Given the description of an element on the screen output the (x, y) to click on. 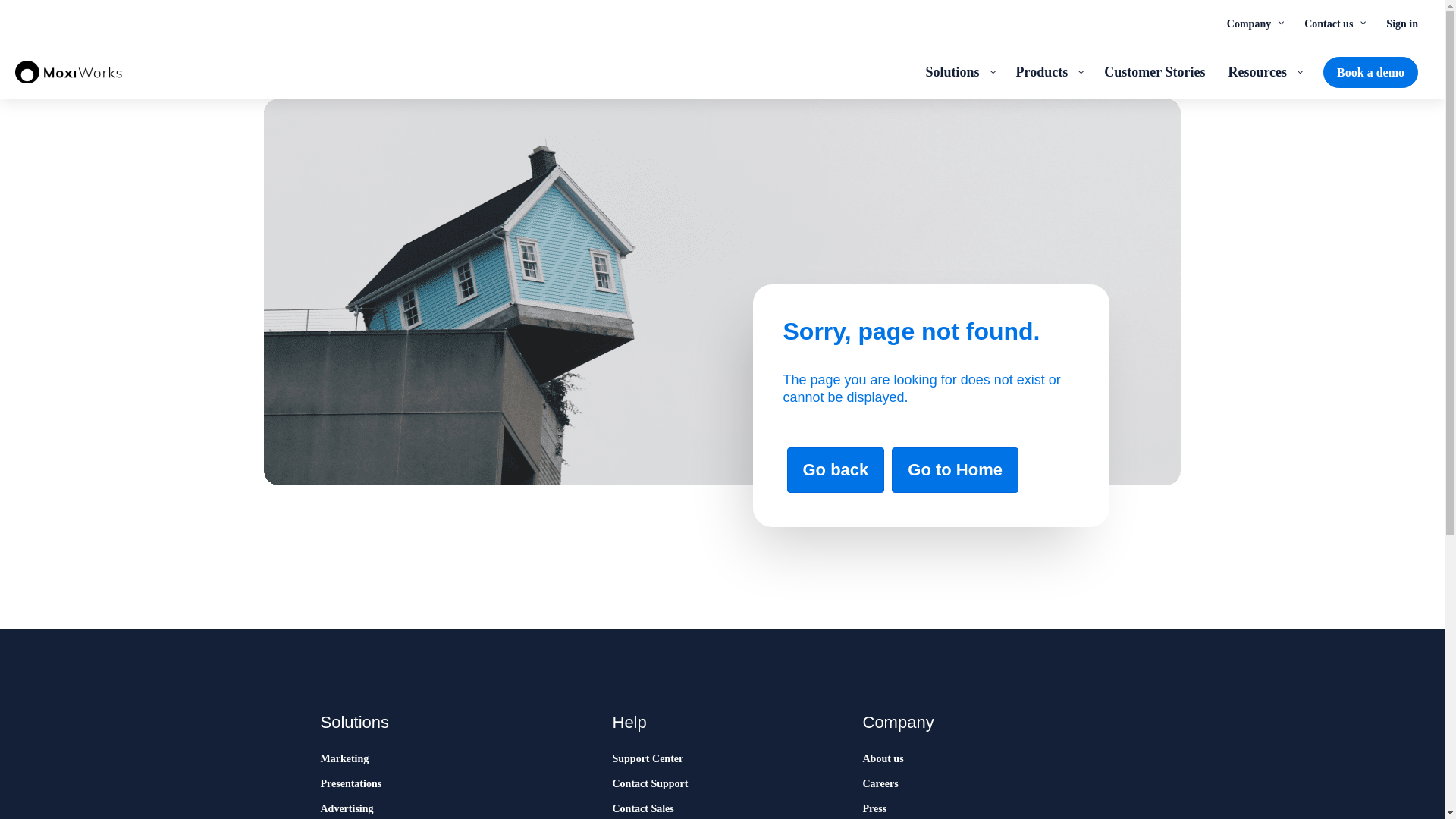
Contact us (1333, 22)
Products (1048, 72)
Company (1253, 22)
Solutions (959, 72)
Sign in (1401, 22)
